Given the description of an element on the screen output the (x, y) to click on. 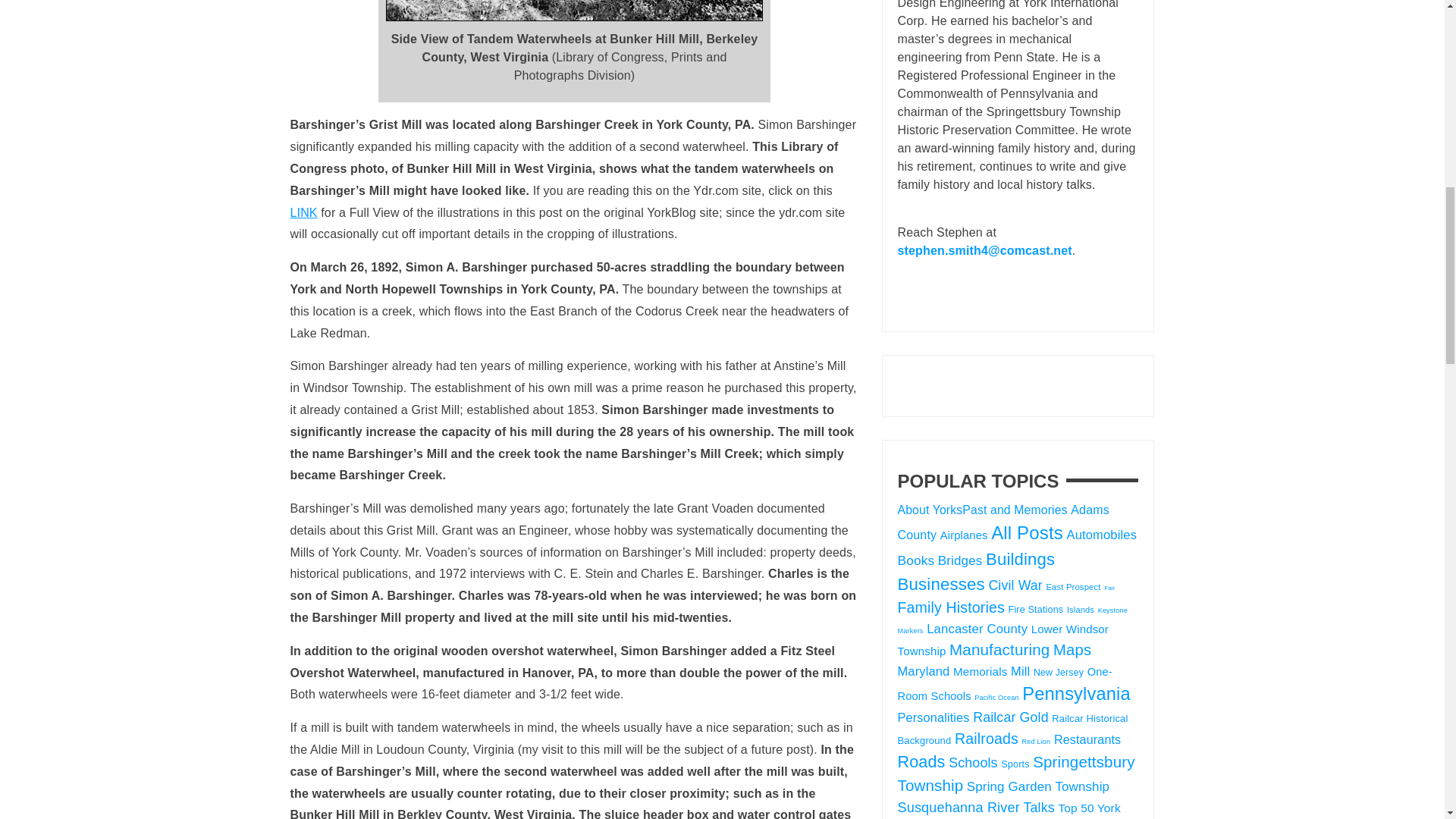
LINK (303, 212)
